Given the description of an element on the screen output the (x, y) to click on. 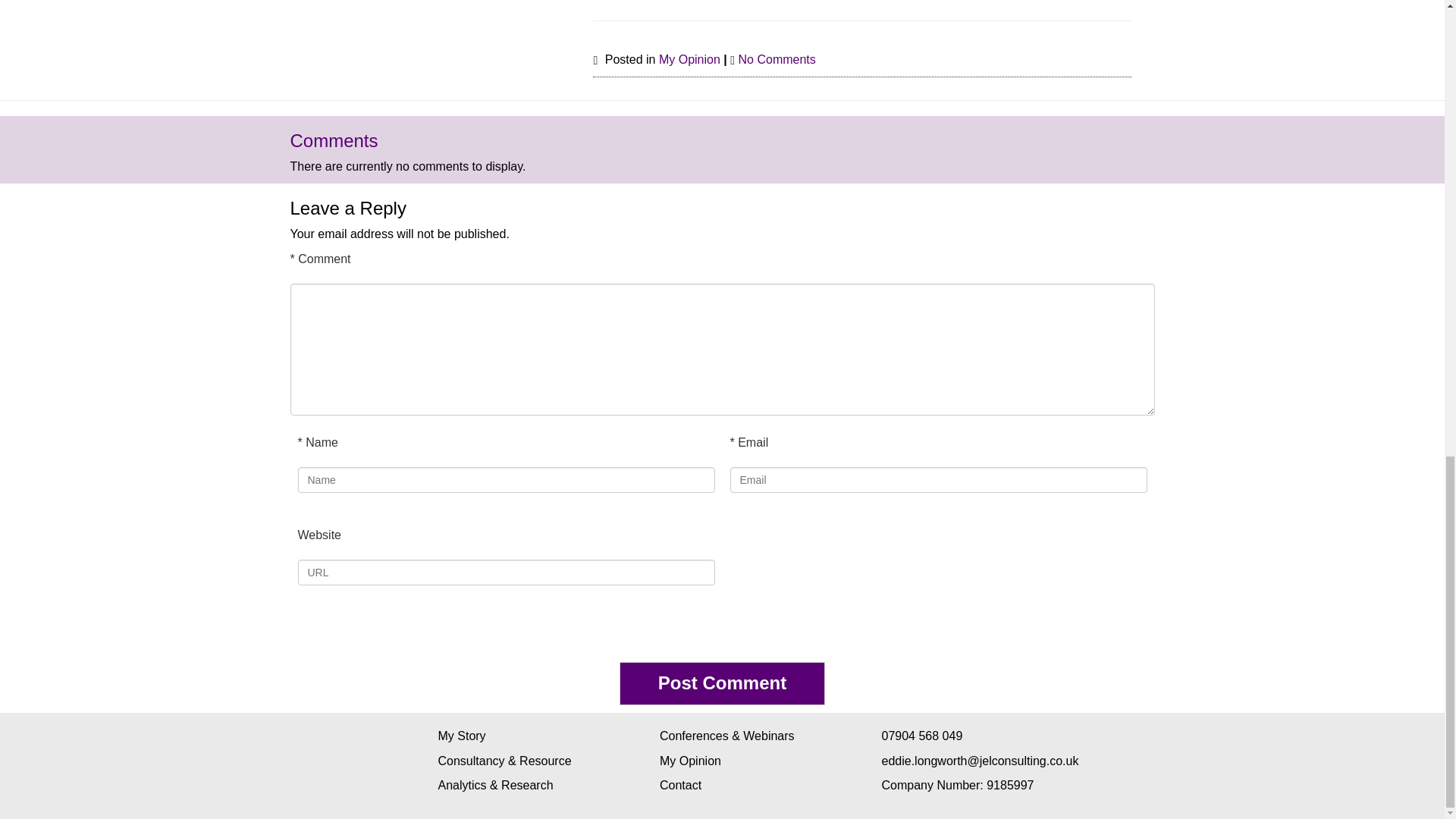
My Story (462, 735)
Post Comment (722, 682)
Contact (680, 784)
My Opinion (689, 59)
No Comments (776, 59)
My Opinion (689, 760)
Post Comment (722, 682)
